Given the description of an element on the screen output the (x, y) to click on. 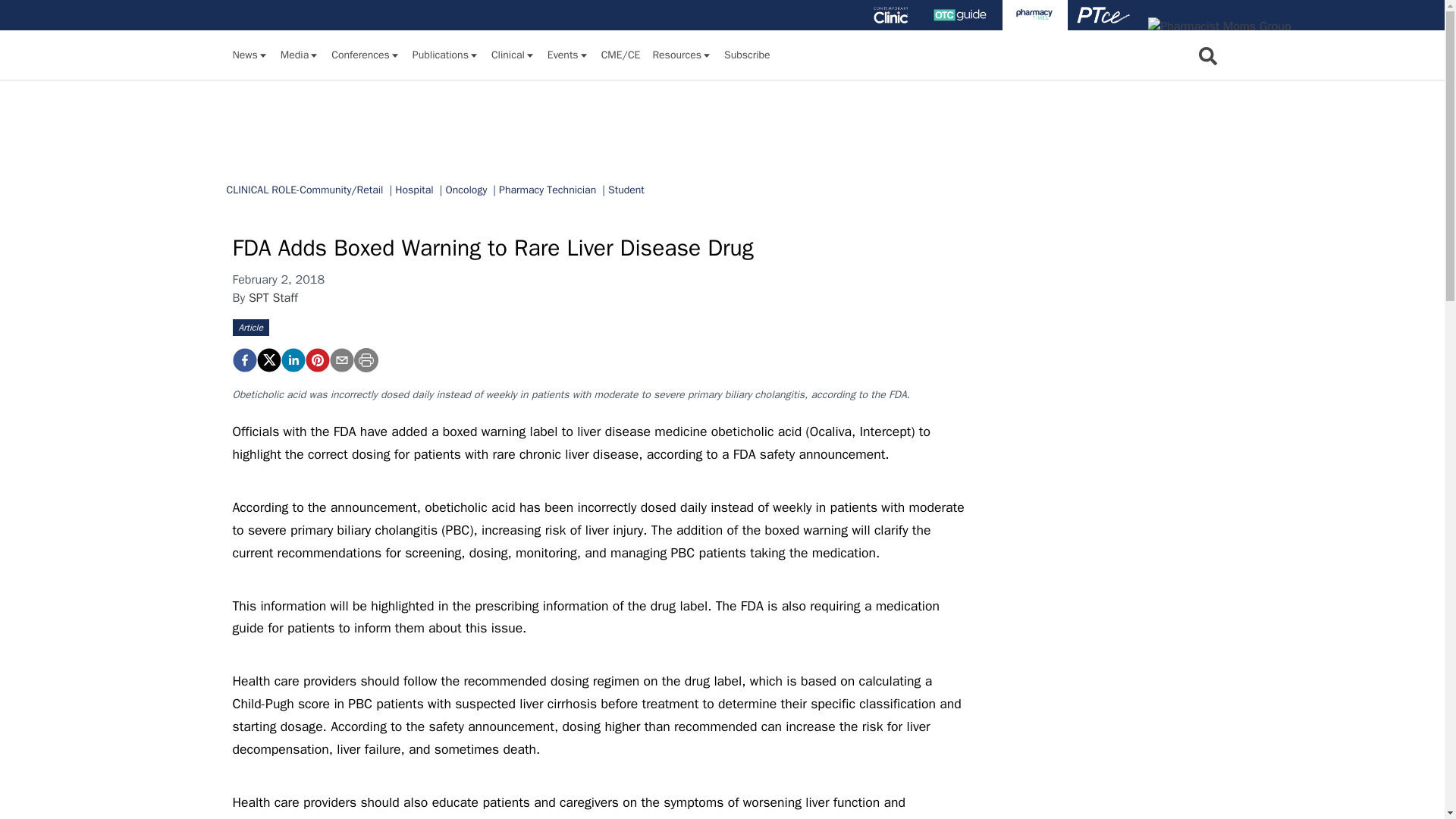
FDA Adds Boxed Warning to Rare Liver Disease Drug (243, 360)
FDA Adds Boxed Warning to Rare Liver Disease Drug (316, 360)
